Given the description of an element on the screen output the (x, y) to click on. 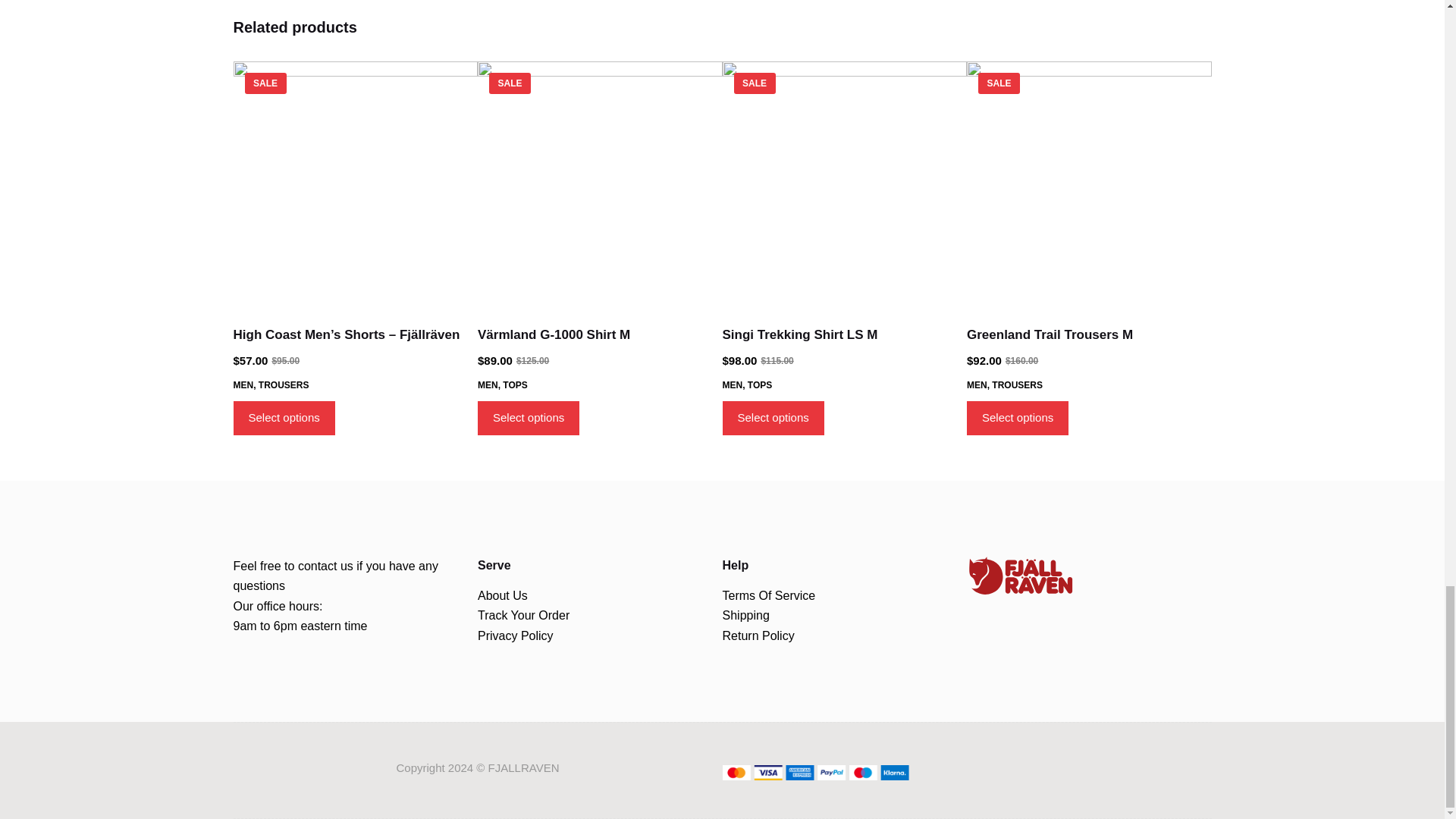
woocommerce-placeholder (355, 183)
woocommerce-placeholder (599, 183)
woocommerce-placeholder (844, 183)
woocommerce-placeholder (1088, 183)
